Given the description of an element on the screen output the (x, y) to click on. 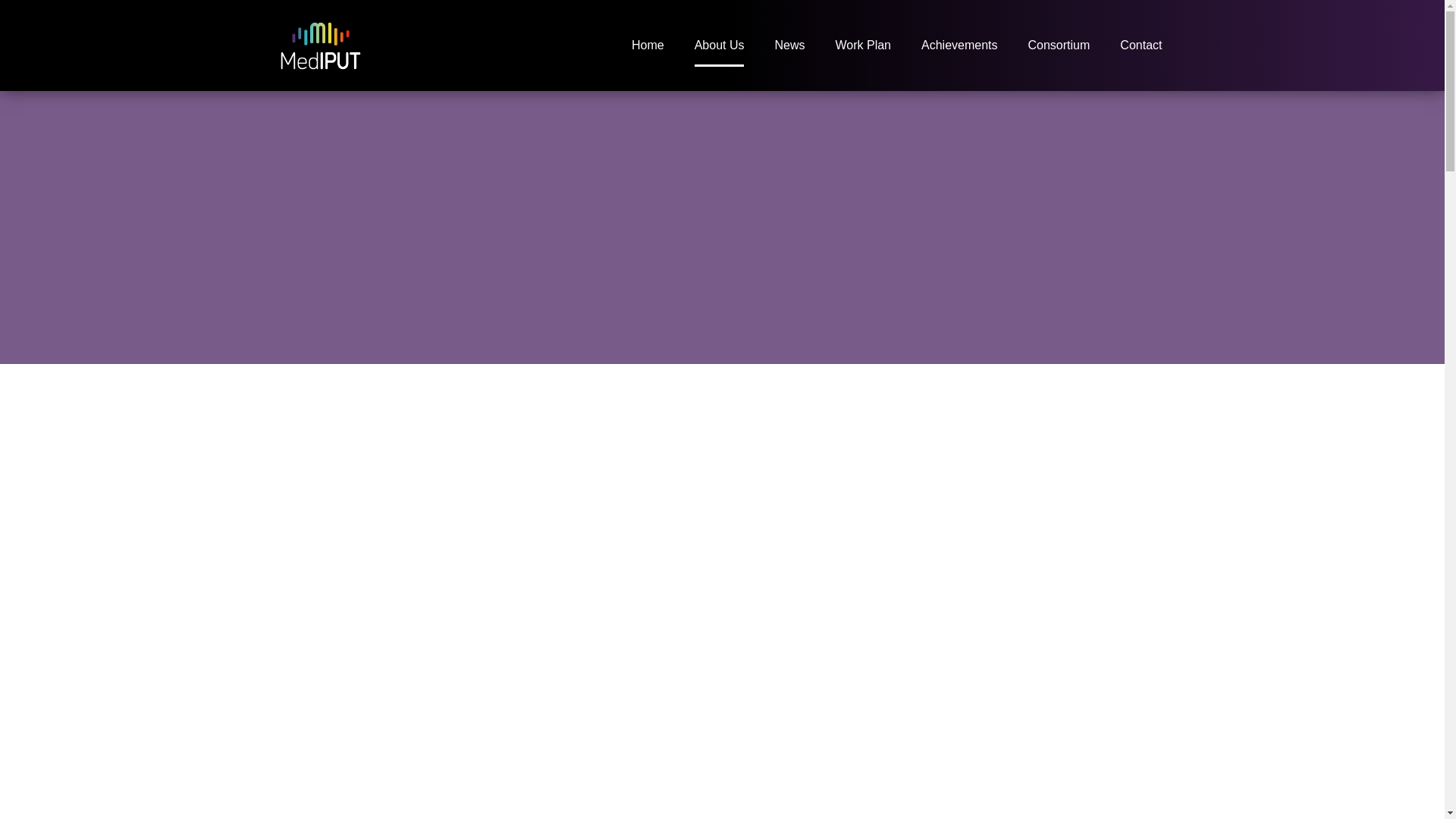
Contact (1140, 45)
Work Plan (863, 45)
Achievements (959, 45)
Consortium (1058, 45)
About Us (719, 45)
